Given the description of an element on the screen output the (x, y) to click on. 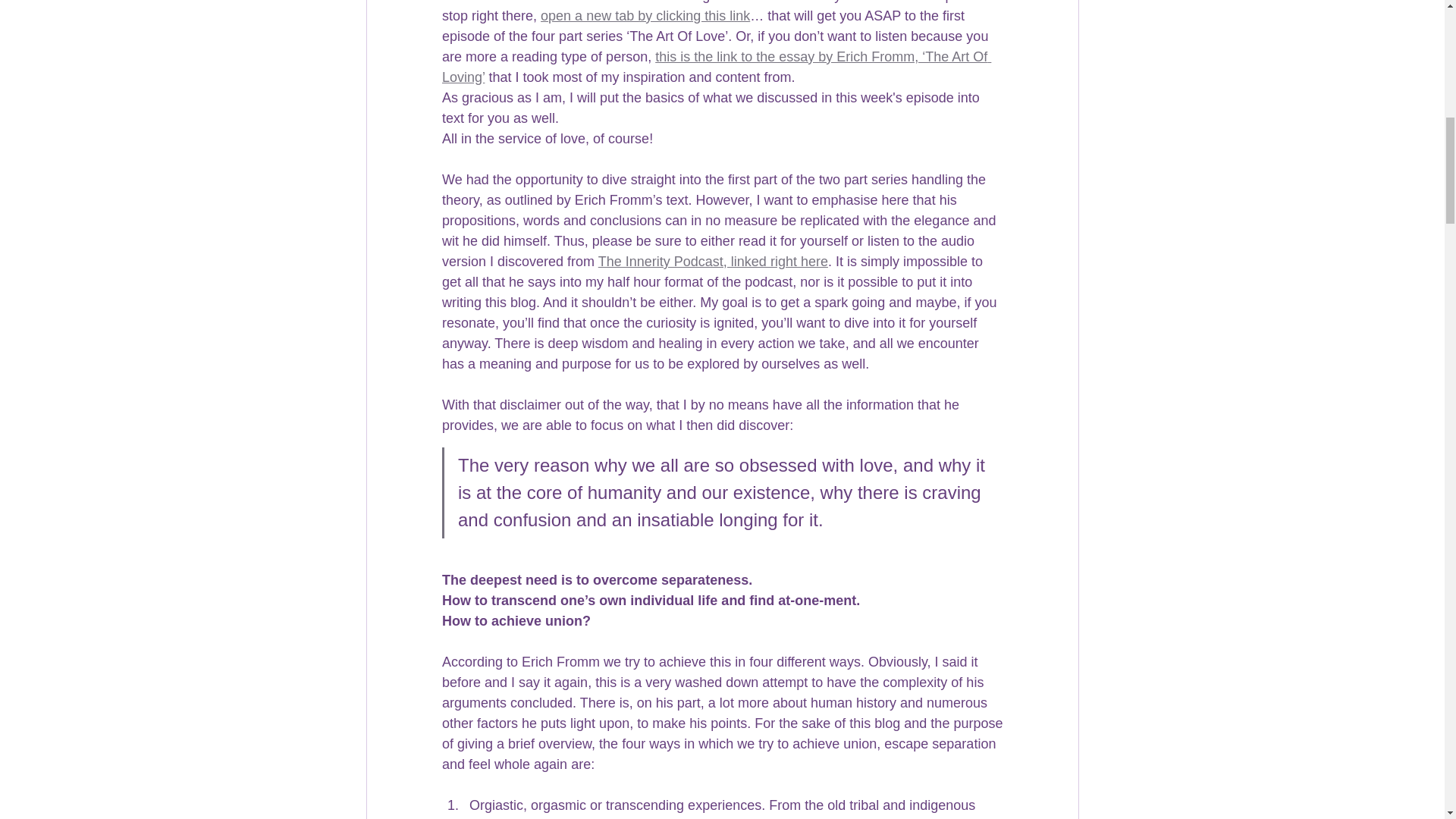
The Innerity Podcast, linked right here (711, 261)
open a new tab by clicking this link (644, 15)
